Given the description of an element on the screen output the (x, y) to click on. 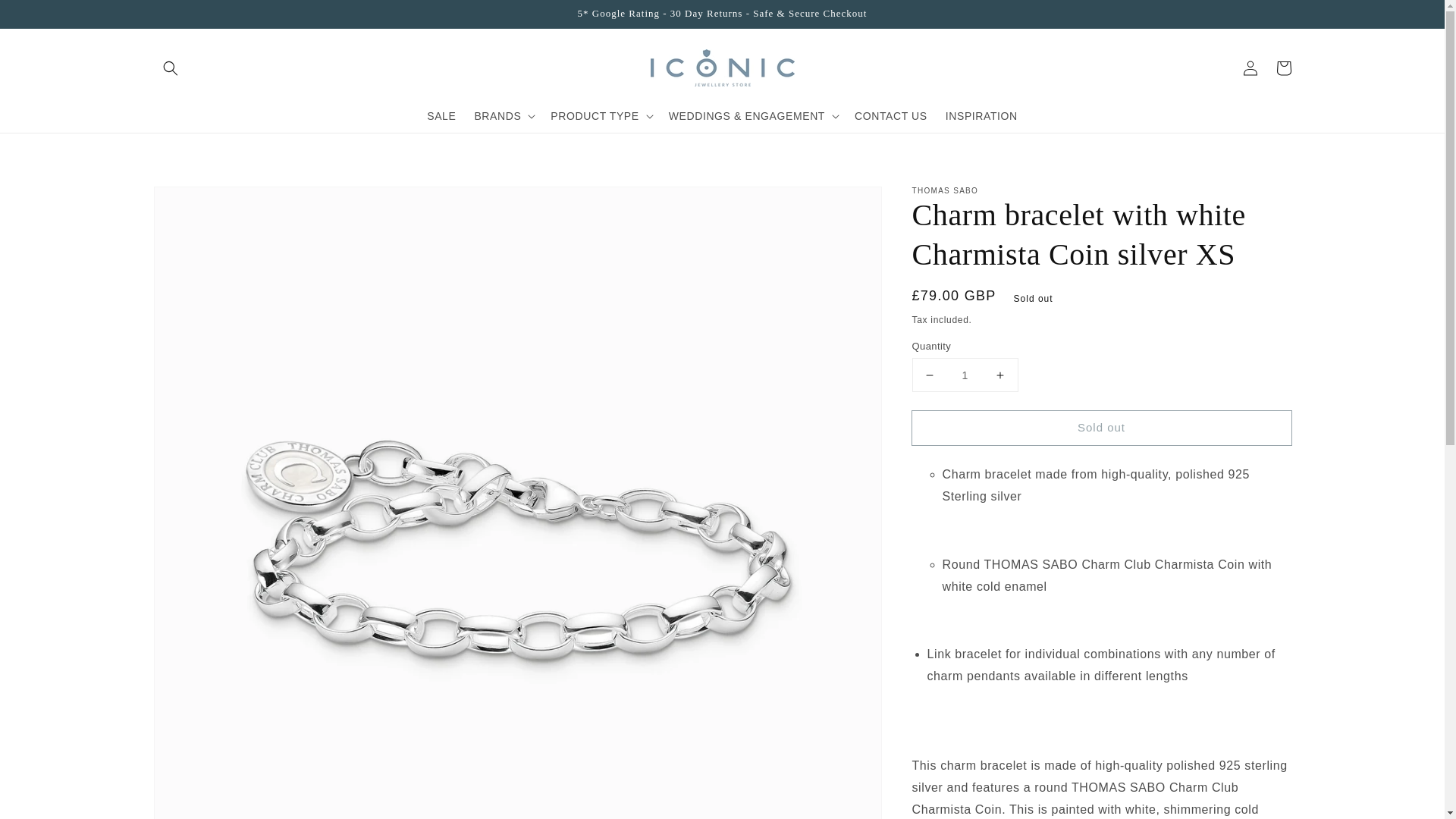
1 (964, 374)
SALE (440, 115)
Skip to content (45, 16)
